Given the description of an element on the screen output the (x, y) to click on. 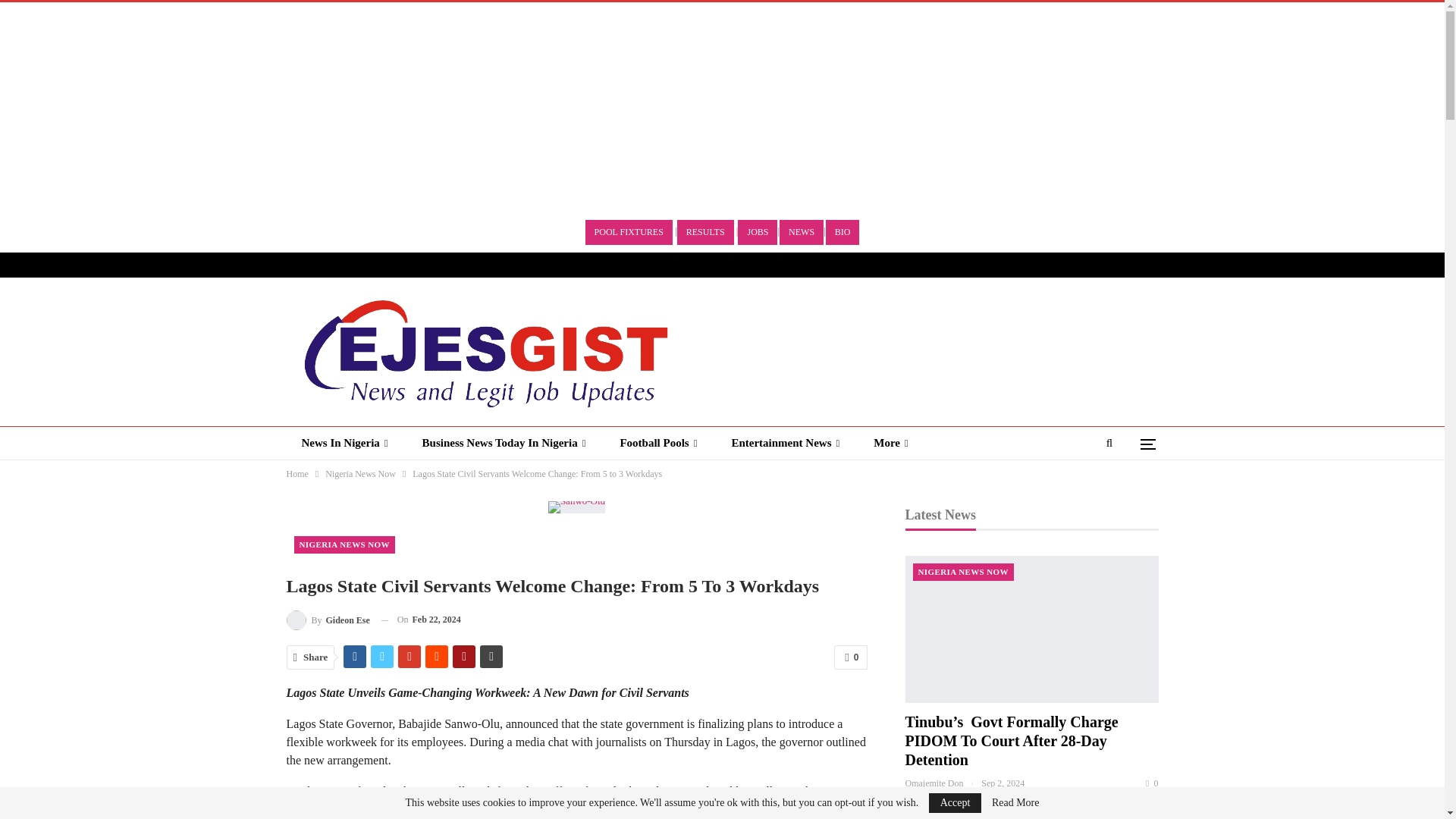
News In Nigeria (344, 442)
BIO (842, 232)
POOL FIXTURES (628, 232)
Football Pools (657, 442)
Entertainment News (785, 442)
More (891, 442)
NEWS (801, 232)
Advertisement (127, 108)
Browse Author Articles (327, 619)
RESULTS (705, 232)
